Given the description of an element on the screen output the (x, y) to click on. 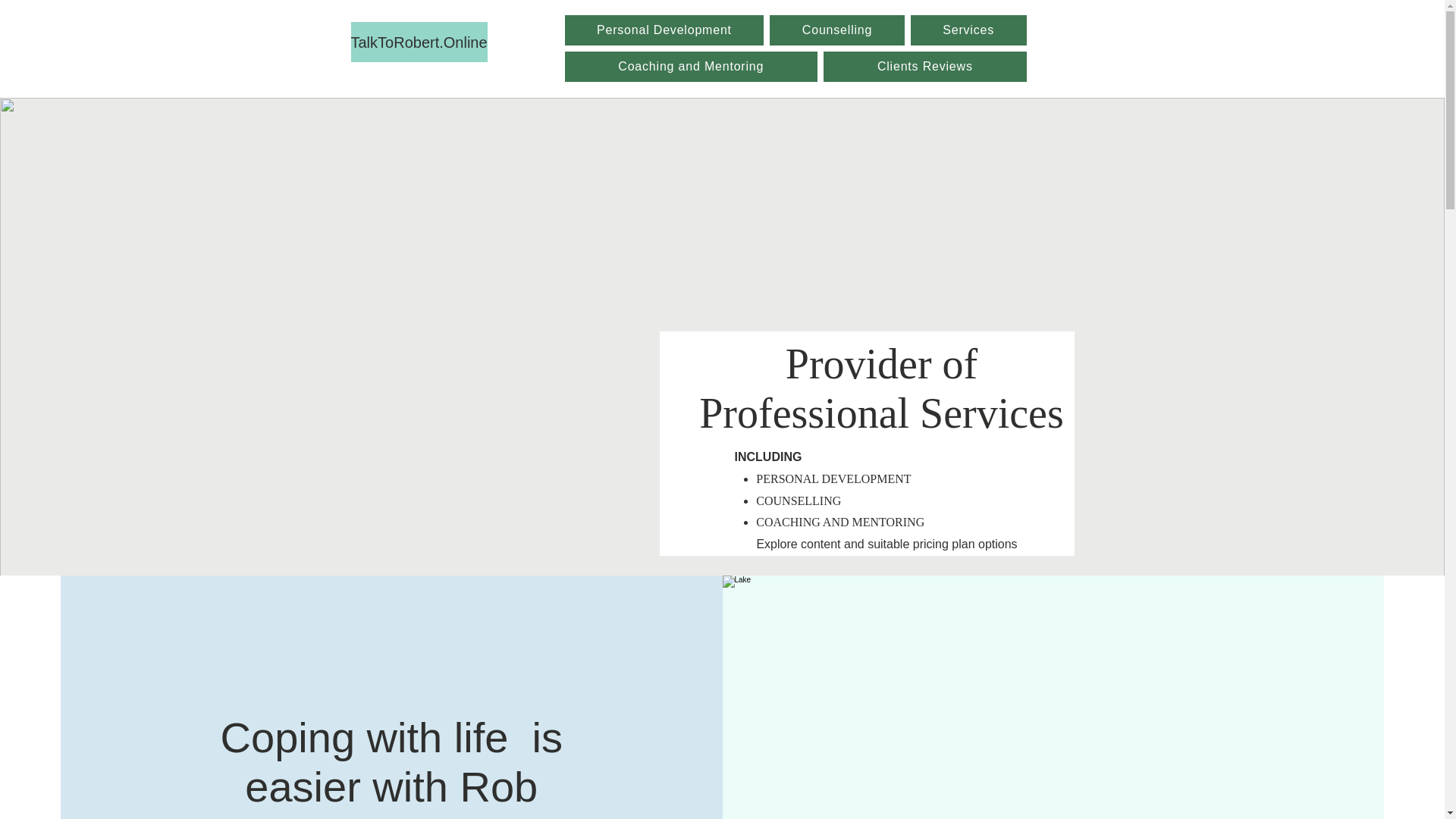
Personal Development (663, 30)
Services (968, 30)
Log In (1041, 119)
TalkToRobert.Online (418, 42)
Counselling (837, 30)
Coaching and Mentoring (690, 66)
Clients Reviews (925, 66)
